Given the description of an element on the screen output the (x, y) to click on. 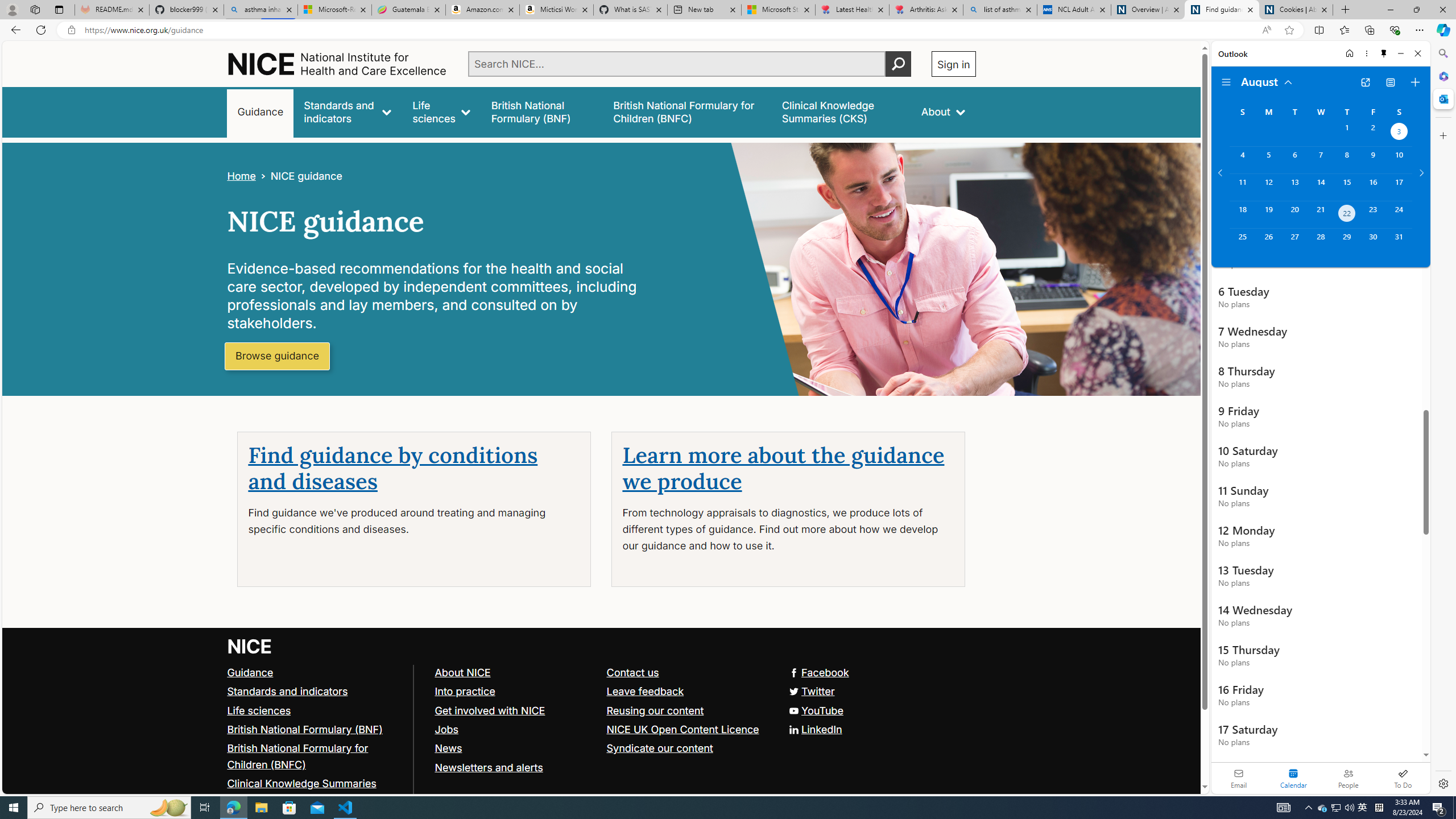
Tuesday, August 6, 2024.  (1294, 159)
Thursday, August 29, 2024.  (1346, 241)
App bar (728, 29)
false (841, 111)
View Switcher. Current view is Agenda view (1390, 82)
Email (1238, 777)
Guidance (315, 672)
